Given the description of an element on the screen output the (x, y) to click on. 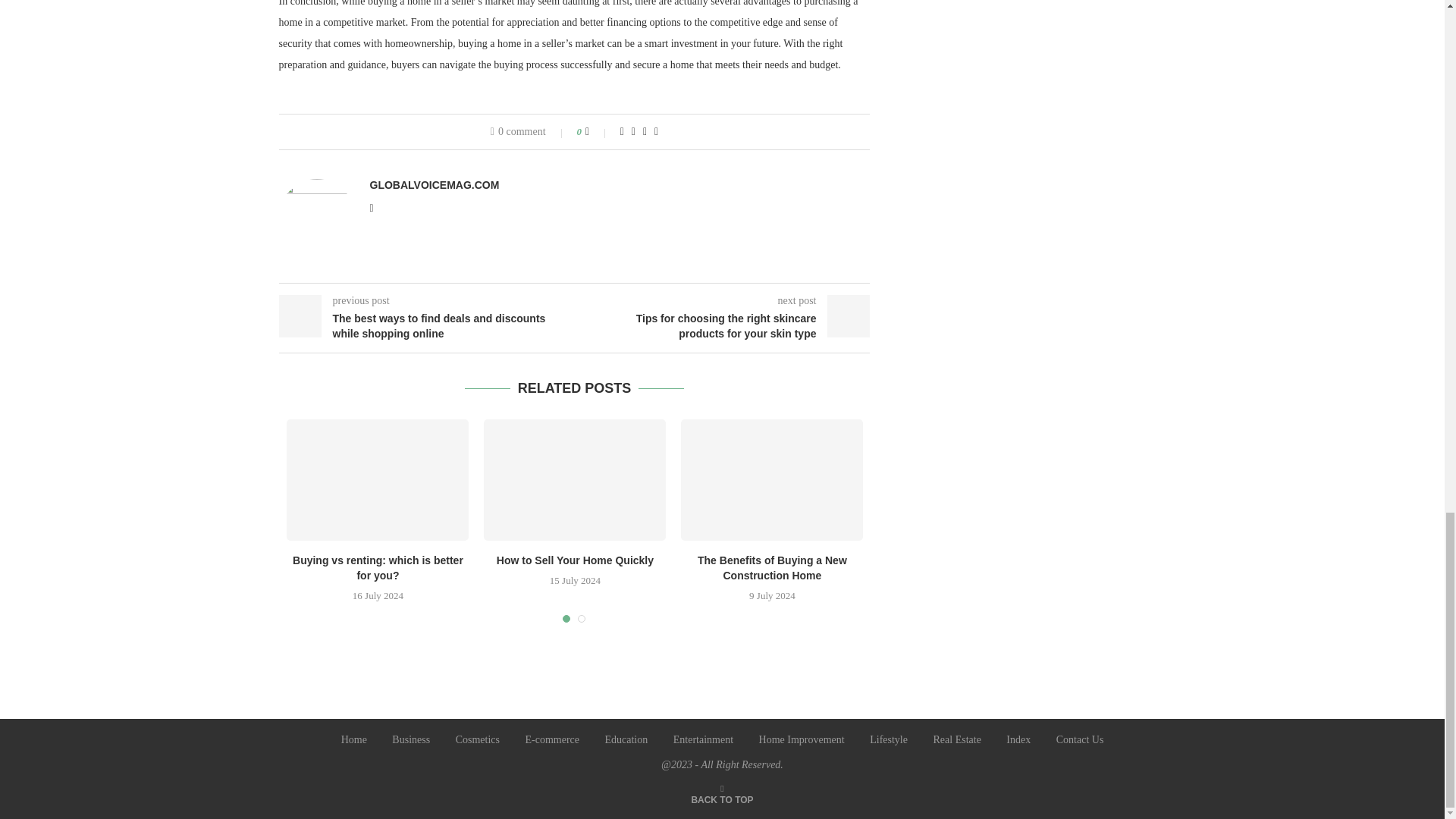
Author globalvoicemag.com (434, 184)
How to Sell Your Home Quickly (574, 479)
Buying vs renting: which is better for you? (377, 479)
Like (597, 132)
The Benefits of Buying a New Construction Home (772, 479)
